Given the description of an element on the screen output the (x, y) to click on. 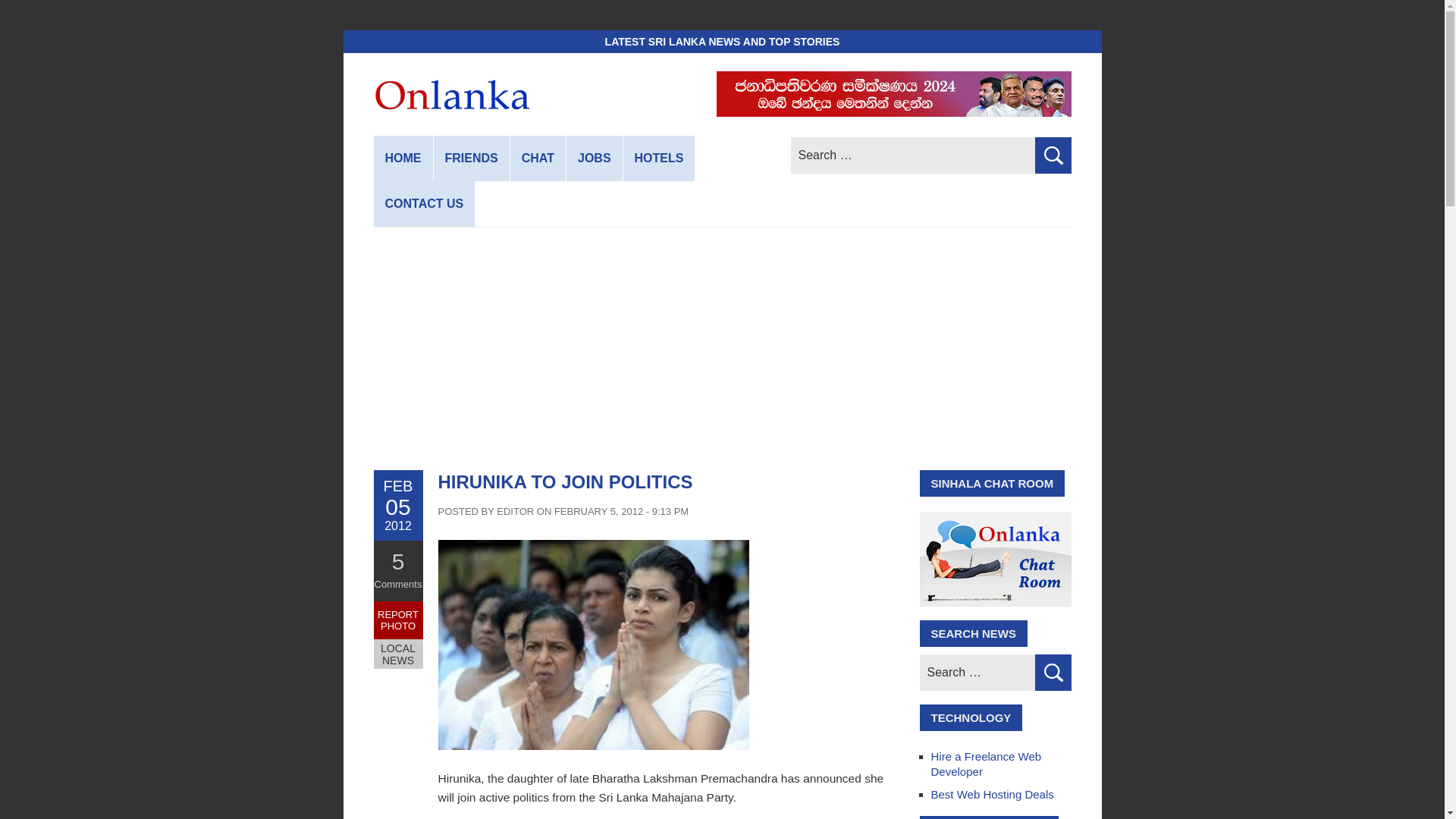
Home page (402, 157)
Search (1051, 155)
Search (1051, 155)
HOME (402, 157)
Comments (397, 583)
Contact Onlanka website (423, 203)
REPORT PHOTO (397, 620)
HOTELS (659, 157)
Sri Lanka chat (538, 157)
Hire a Freelance Web Developer (986, 764)
